Given the description of an element on the screen output the (x, y) to click on. 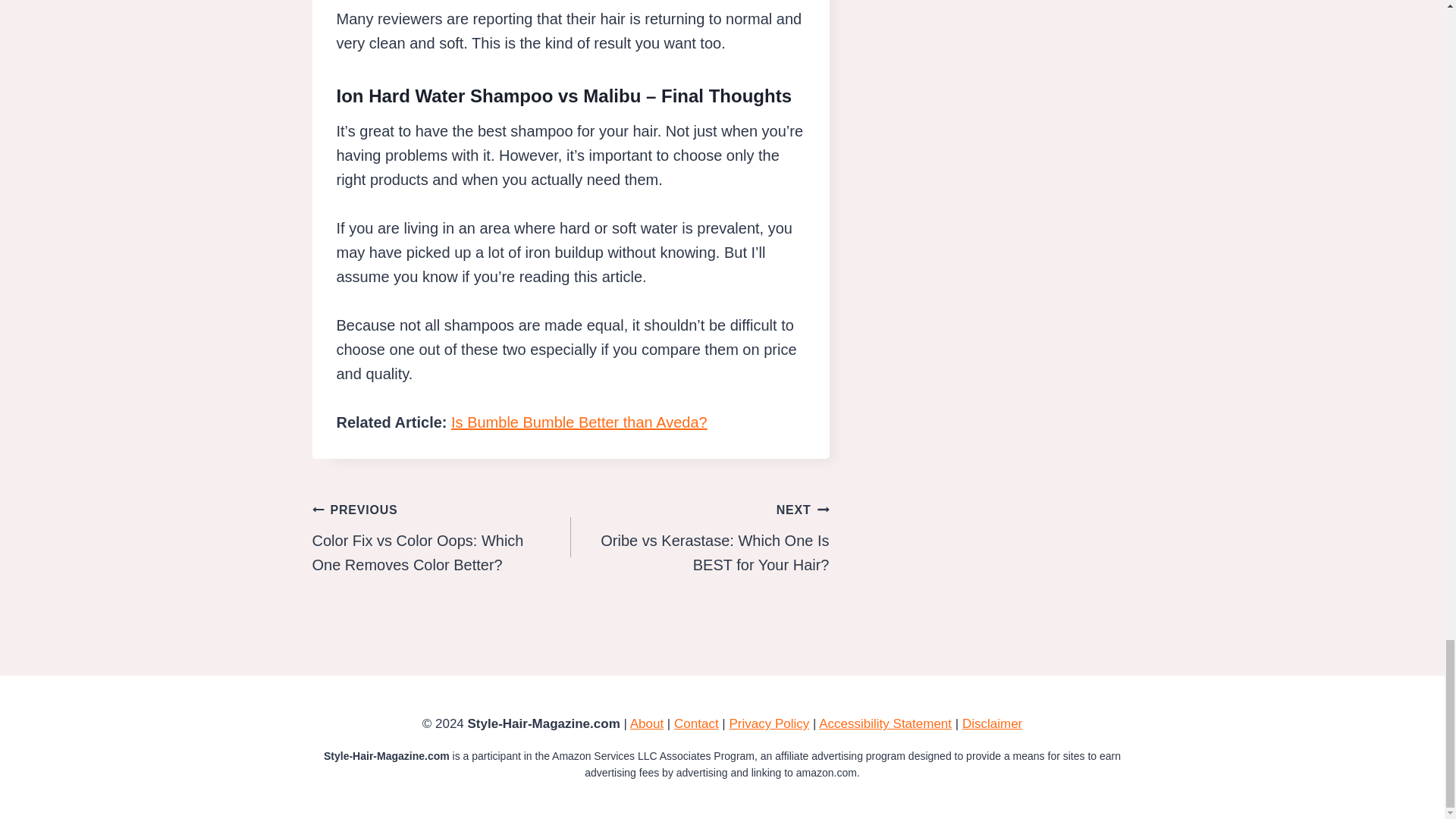
Accessibility Statement (885, 723)
Disclaimer (992, 723)
Privacy Policy (769, 723)
Contact (699, 536)
Is Bumble Bumble Better than Aveda? (696, 723)
About (579, 422)
